Given the description of an element on the screen output the (x, y) to click on. 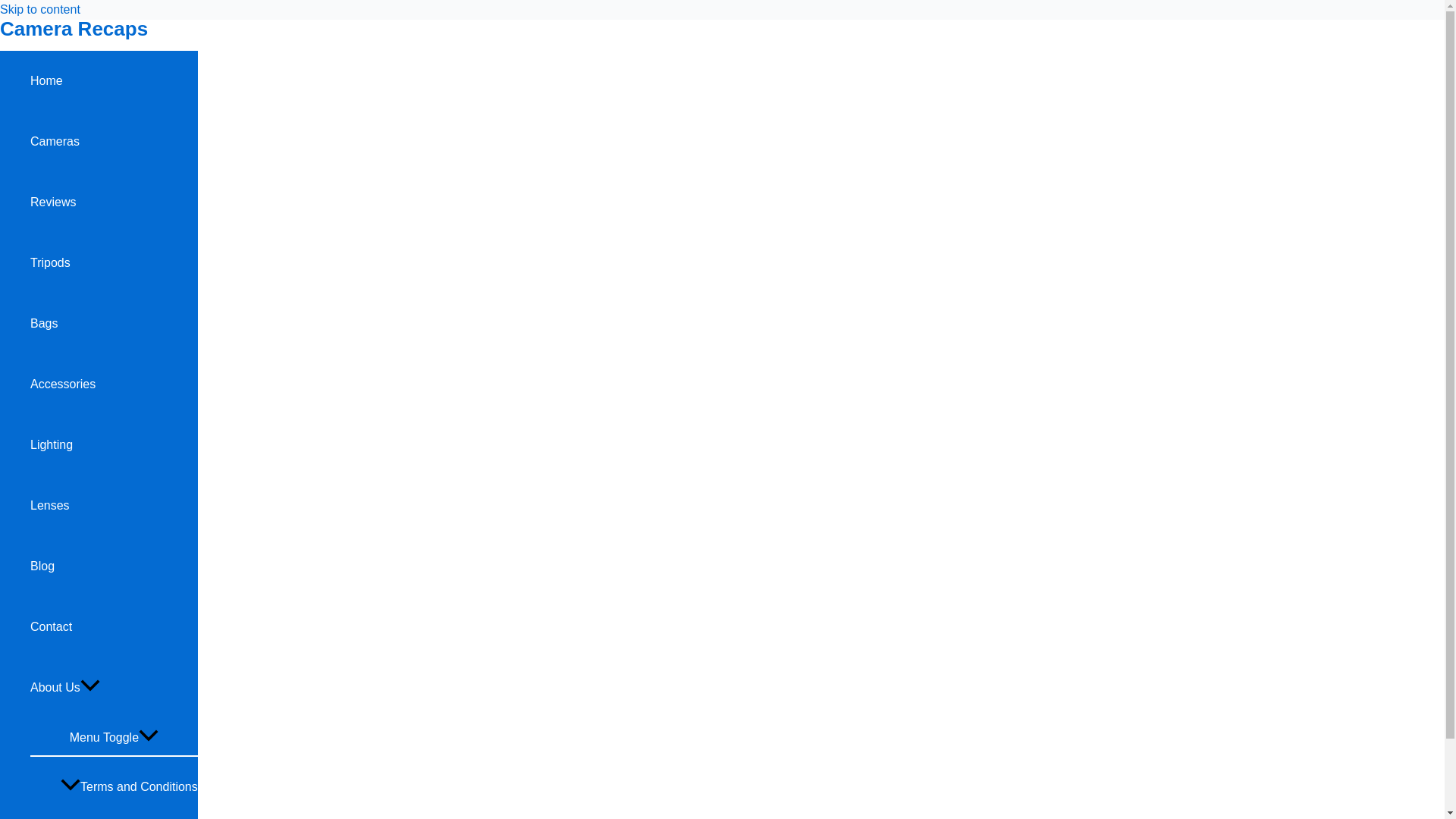
Skip to content (40, 9)
Blog (114, 566)
Lighting (114, 444)
About Us (114, 687)
Bags (114, 323)
Menu Toggle (114, 736)
Tripods (114, 262)
Home (114, 80)
Terms and Conditions (129, 786)
Privacy Policy (129, 818)
Lenses (114, 505)
Reviews (114, 201)
Cameras (114, 141)
Accessories (114, 383)
Camera Recaps (74, 28)
